Given the description of an element on the screen output the (x, y) to click on. 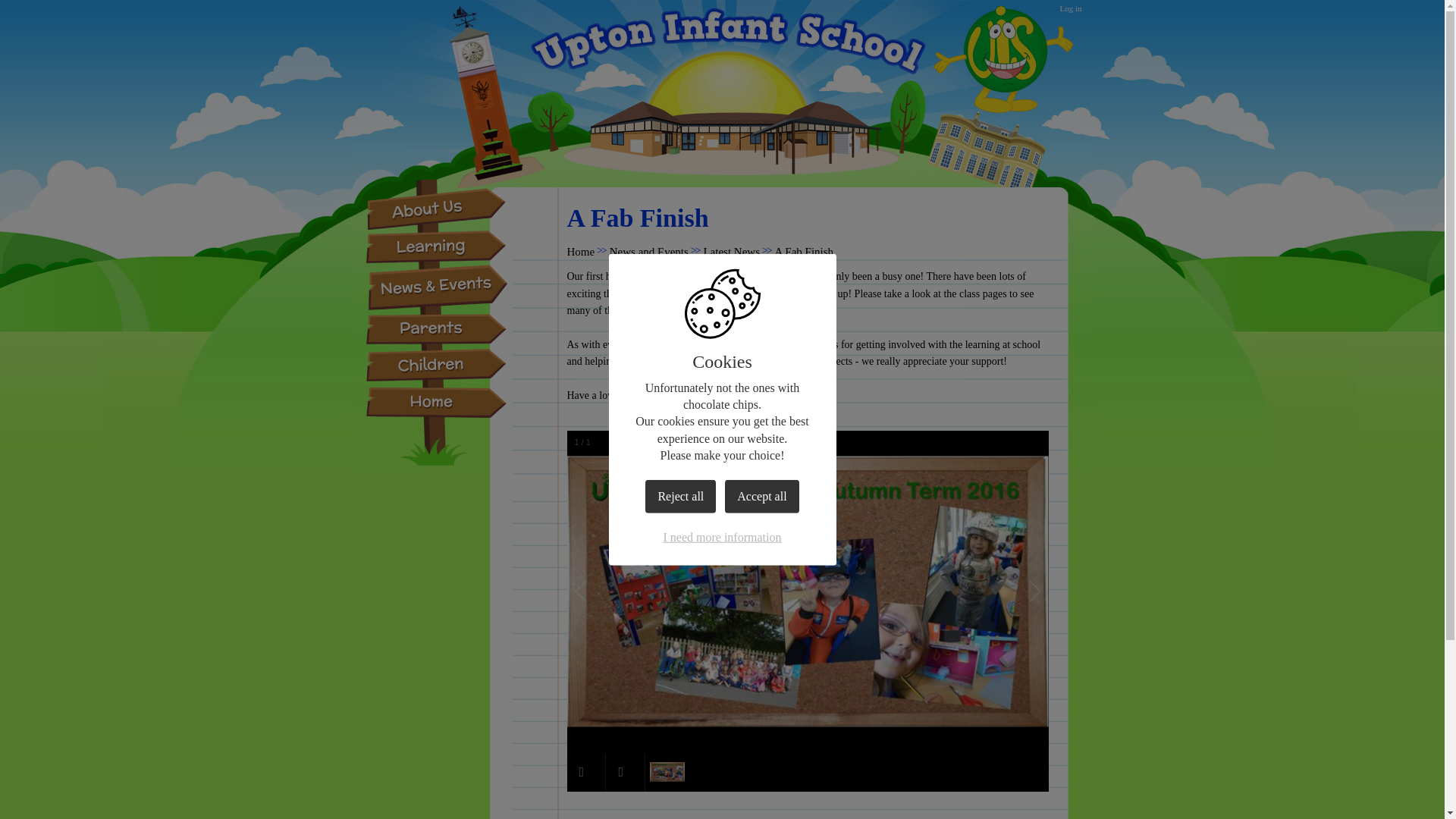
Home Page (721, 49)
Learning (436, 246)
News and Events (649, 251)
Home Page (721, 49)
About Us (436, 209)
Latest News (731, 251)
A Fab Finish (804, 251)
Home (581, 251)
Log in (1070, 8)
